Given the description of an element on the screen output the (x, y) to click on. 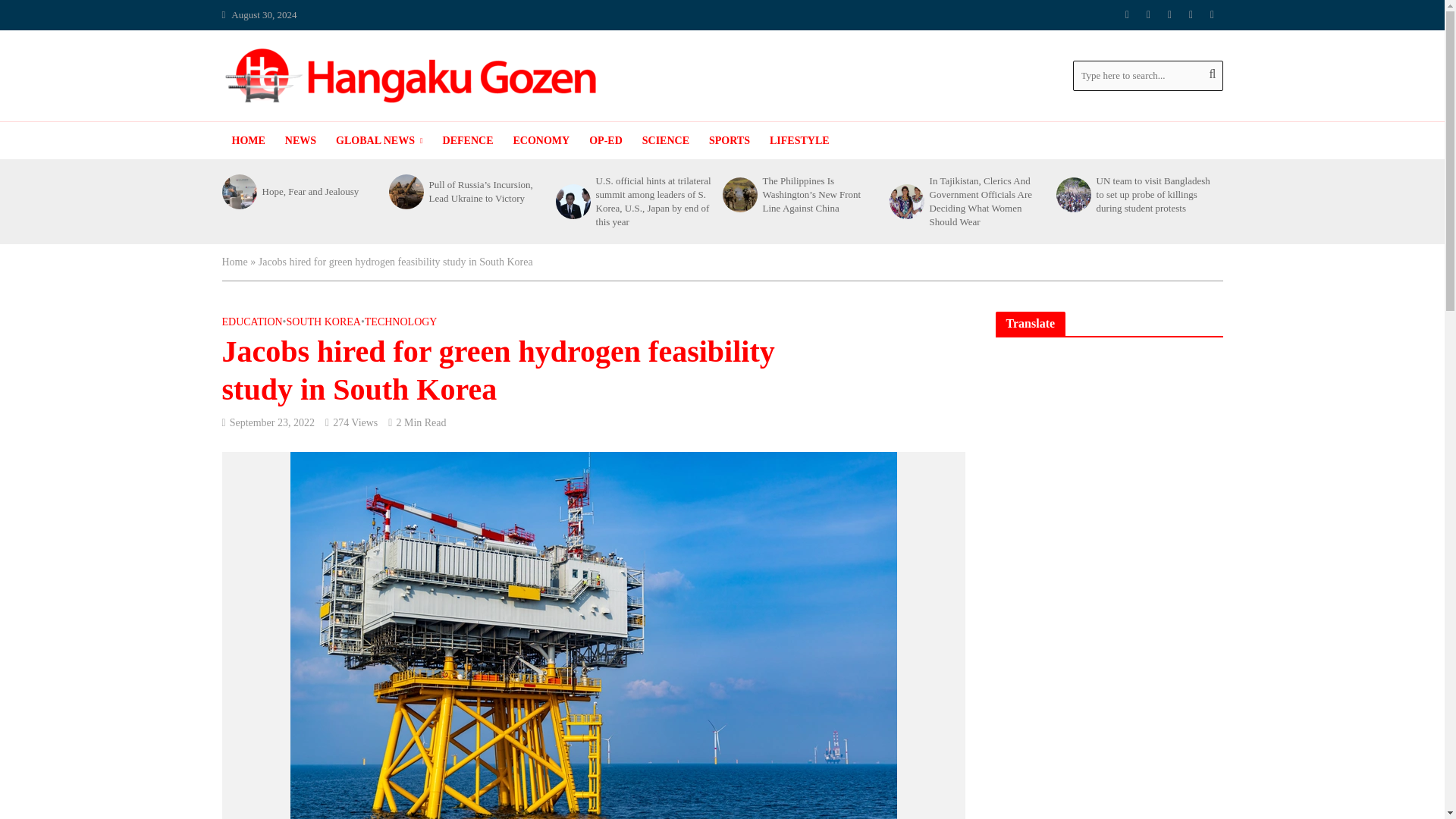
HOME (248, 140)
GLOBAL NEWS (379, 140)
NEWS (300, 140)
Hope, Fear and Jealousy (237, 191)
